Given the description of an element on the screen output the (x, y) to click on. 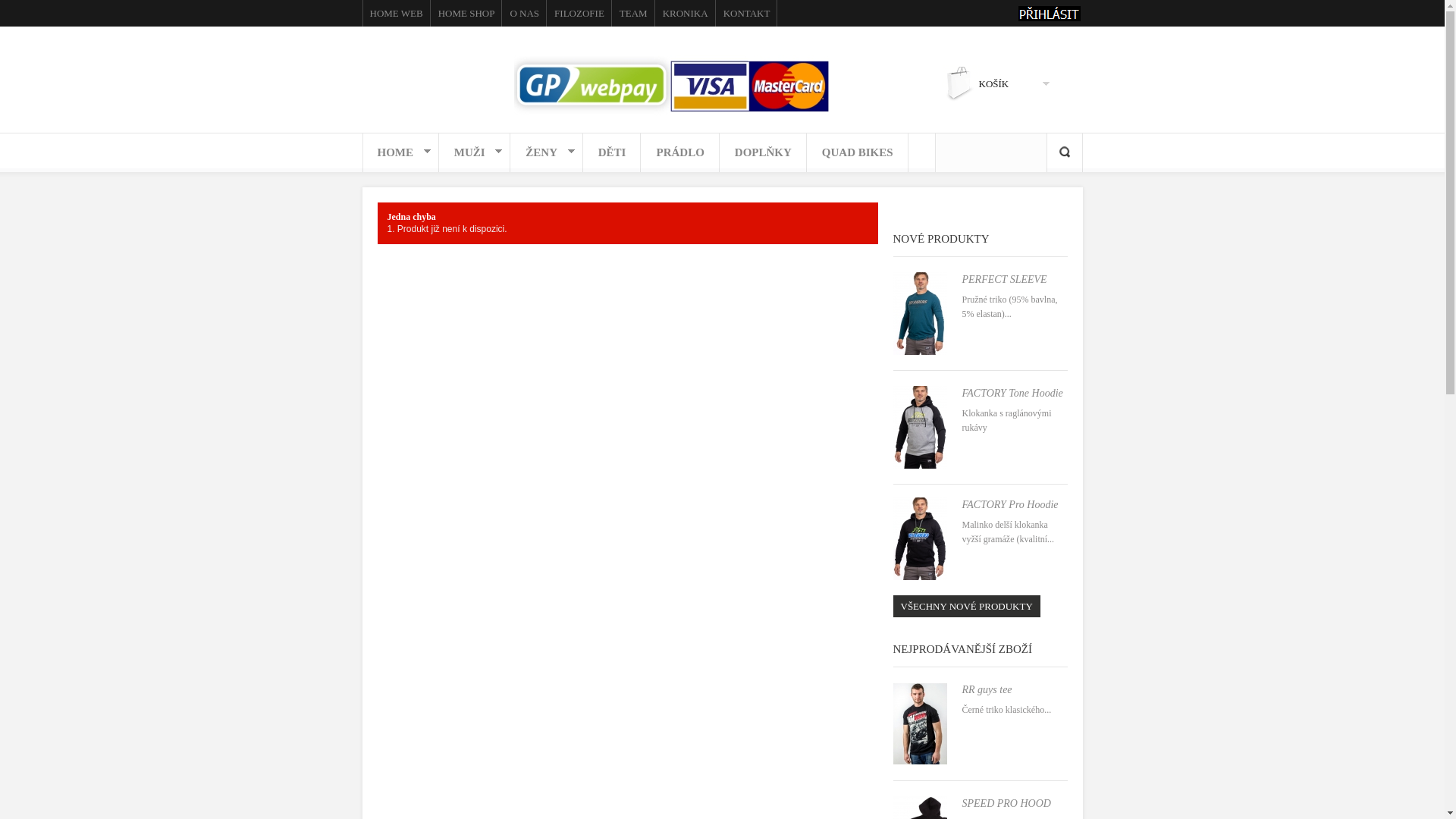
FACTORY Pro Hoodie Element type: text (1009, 504)
QUAD BIKES Element type: text (857, 153)
FILOZOFIE Element type: text (578, 13)
FACTORY Tone Hoodie Element type: text (1011, 392)
KRONIKA Element type: text (685, 13)
TEAM Element type: text (633, 13)
KONTAKT Element type: text (746, 13)
RR guys tee Element type: text (986, 689)
HOME SHOP Element type: text (466, 13)
HOME WEB Element type: text (396, 13)
101 Boutique Element type: hover (588, 78)
O NAS Element type: text (524, 13)
SPEED PRO HOOD Element type: text (1005, 803)
PERFECT SLEEVE Element type: text (1003, 279)
